Given the description of an element on the screen output the (x, y) to click on. 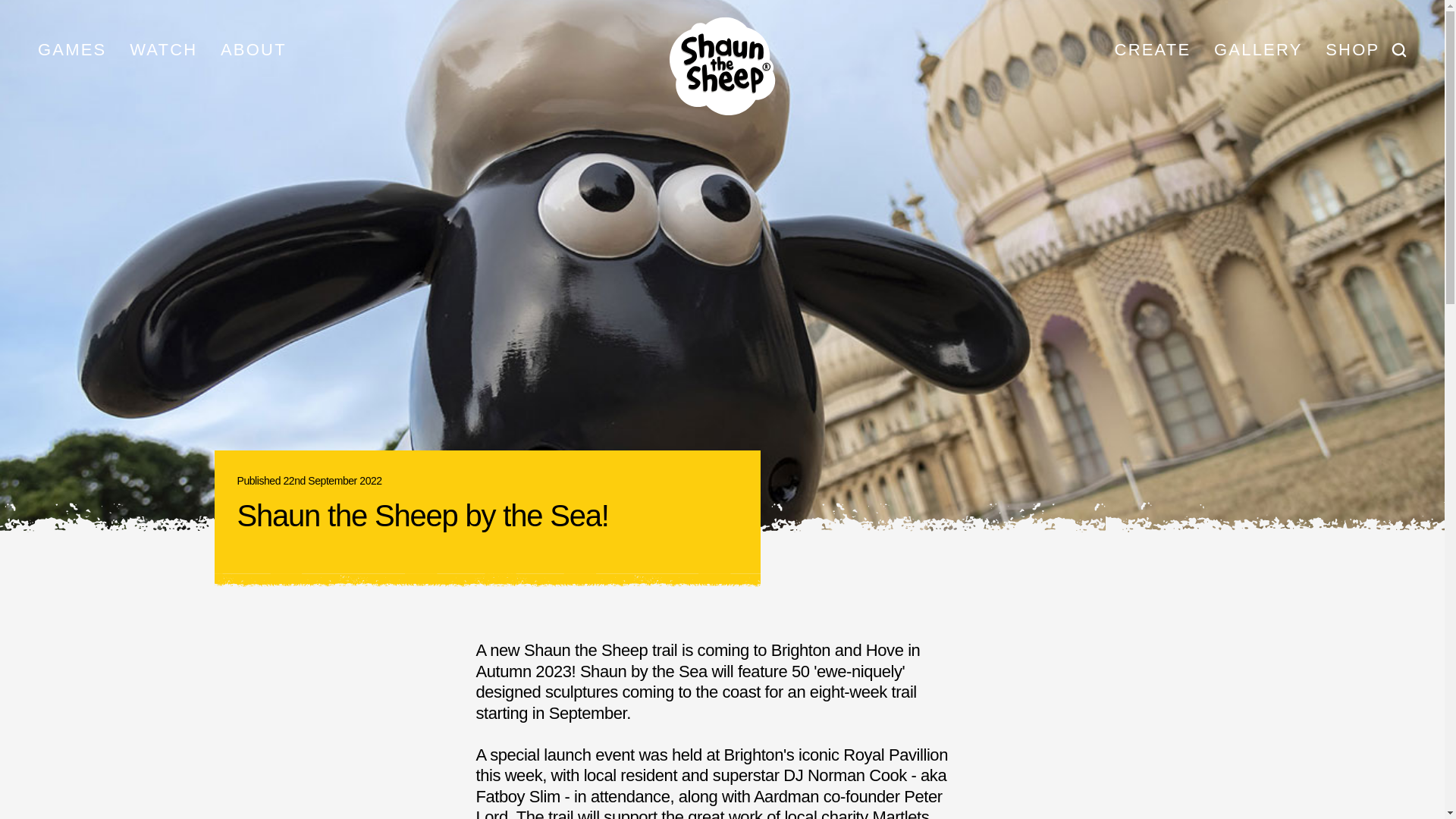
SHOP (1352, 49)
CREATE (1153, 49)
GAMES (71, 49)
GALLERY (1258, 49)
ABOUT (253, 49)
WATCH (163, 49)
